Given the description of an element on the screen output the (x, y) to click on. 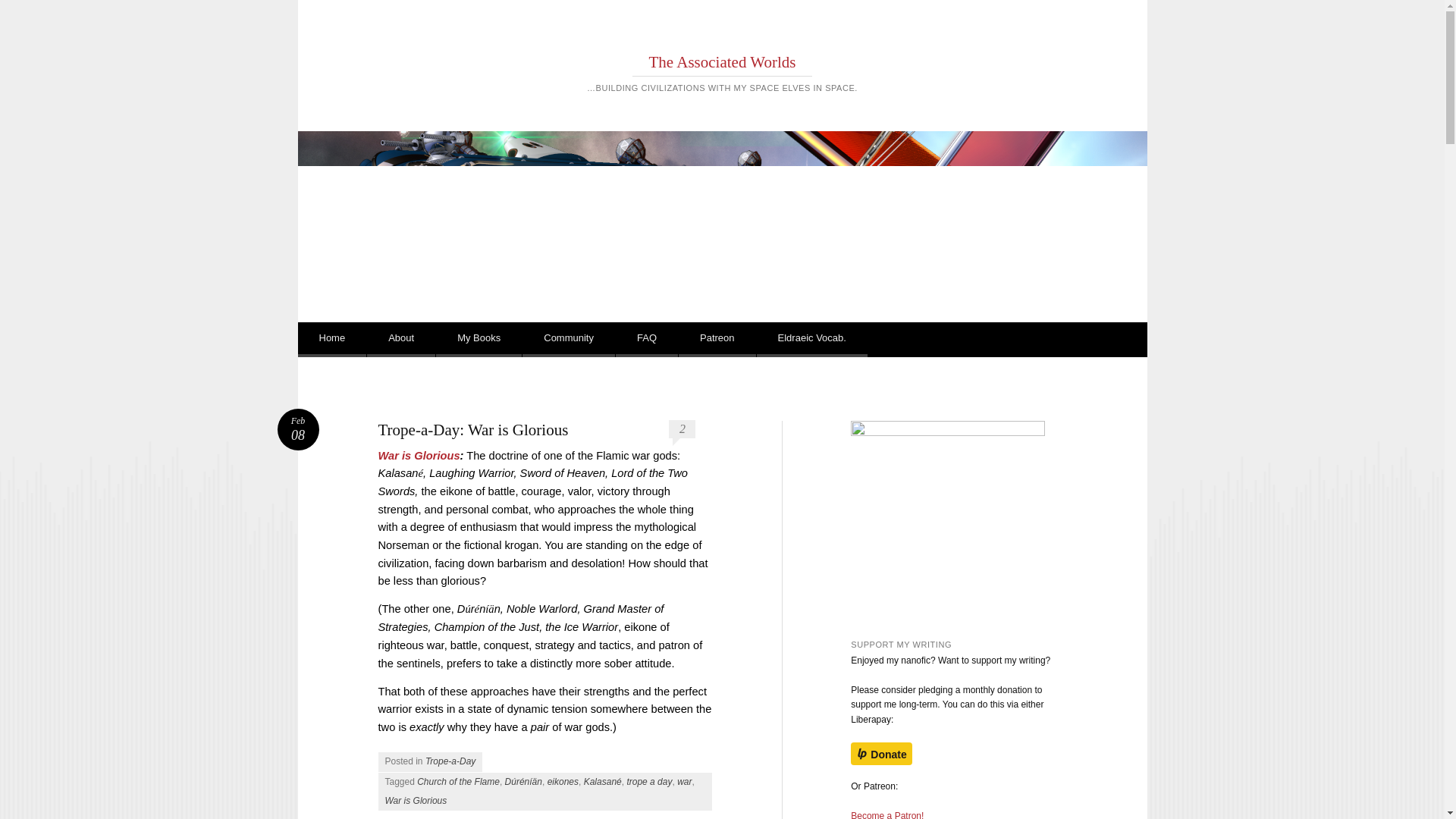
My Books (478, 339)
Home (331, 339)
Church of the Flame (457, 781)
The Associated Worlds (298, 429)
Eldraeic Vocab. (722, 62)
The Associated Worlds (812, 339)
War is Glorious (722, 62)
war (415, 800)
Permalink to Trope-a-Day: War is Glorious (684, 781)
Become a Patron! (298, 429)
Trope-a-Day (886, 814)
About (450, 760)
War is Glorious (400, 339)
trope a day (418, 455)
